Given the description of an element on the screen output the (x, y) to click on. 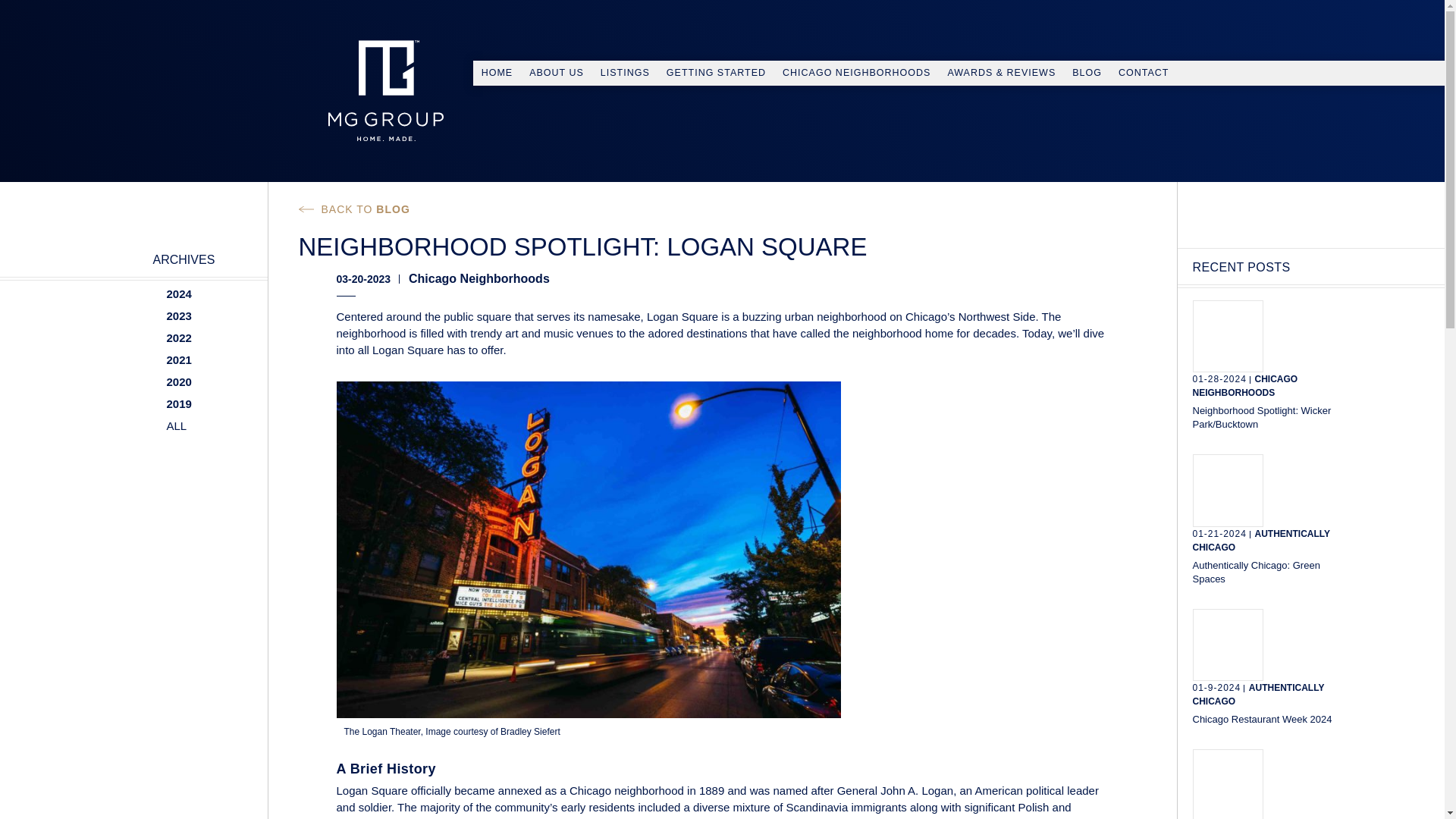
BACK TO BLOG (354, 209)
ABOUT US (556, 72)
HOME (497, 72)
BLOG (1086, 72)
LISTINGS (625, 72)
CHICAGO NEIGHBORHOODS (856, 72)
GETTING STARTED (716, 72)
CONTACT (1143, 72)
